Given the description of an element on the screen output the (x, y) to click on. 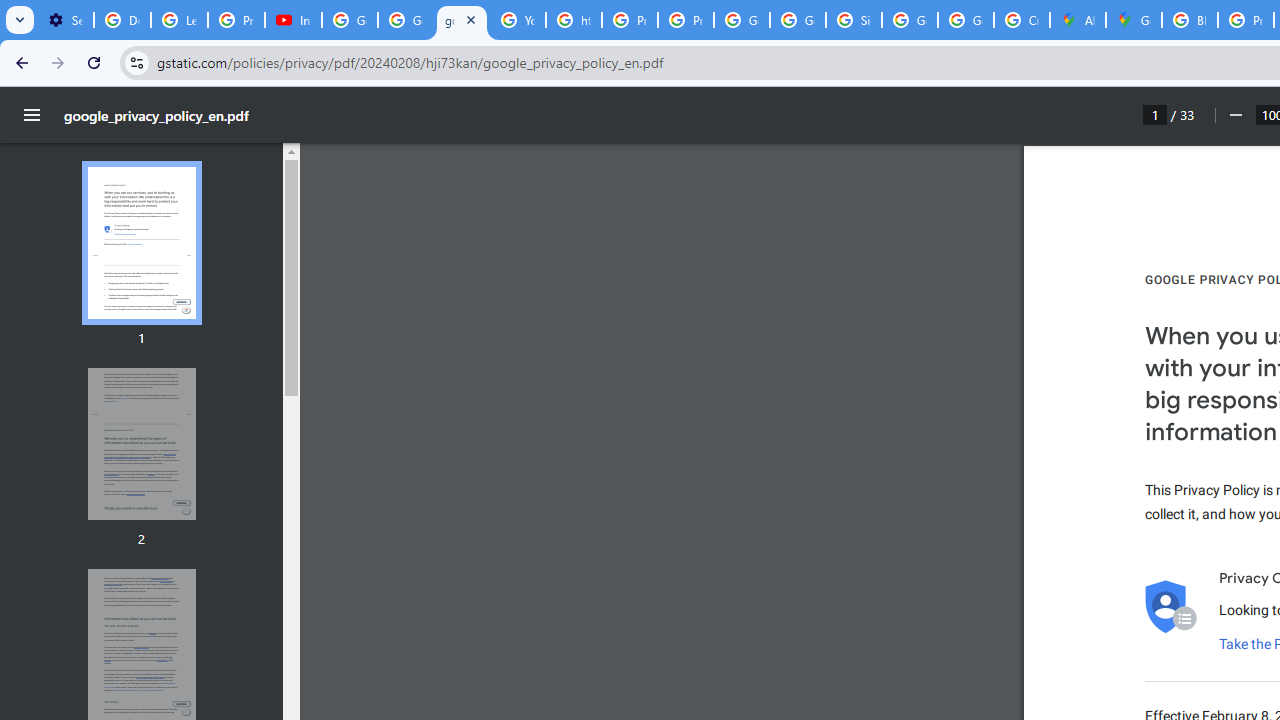
Sign in - Google Accounts (853, 20)
google_privacy_policy_en.pdf (461, 20)
